Given the description of an element on the screen output the (x, y) to click on. 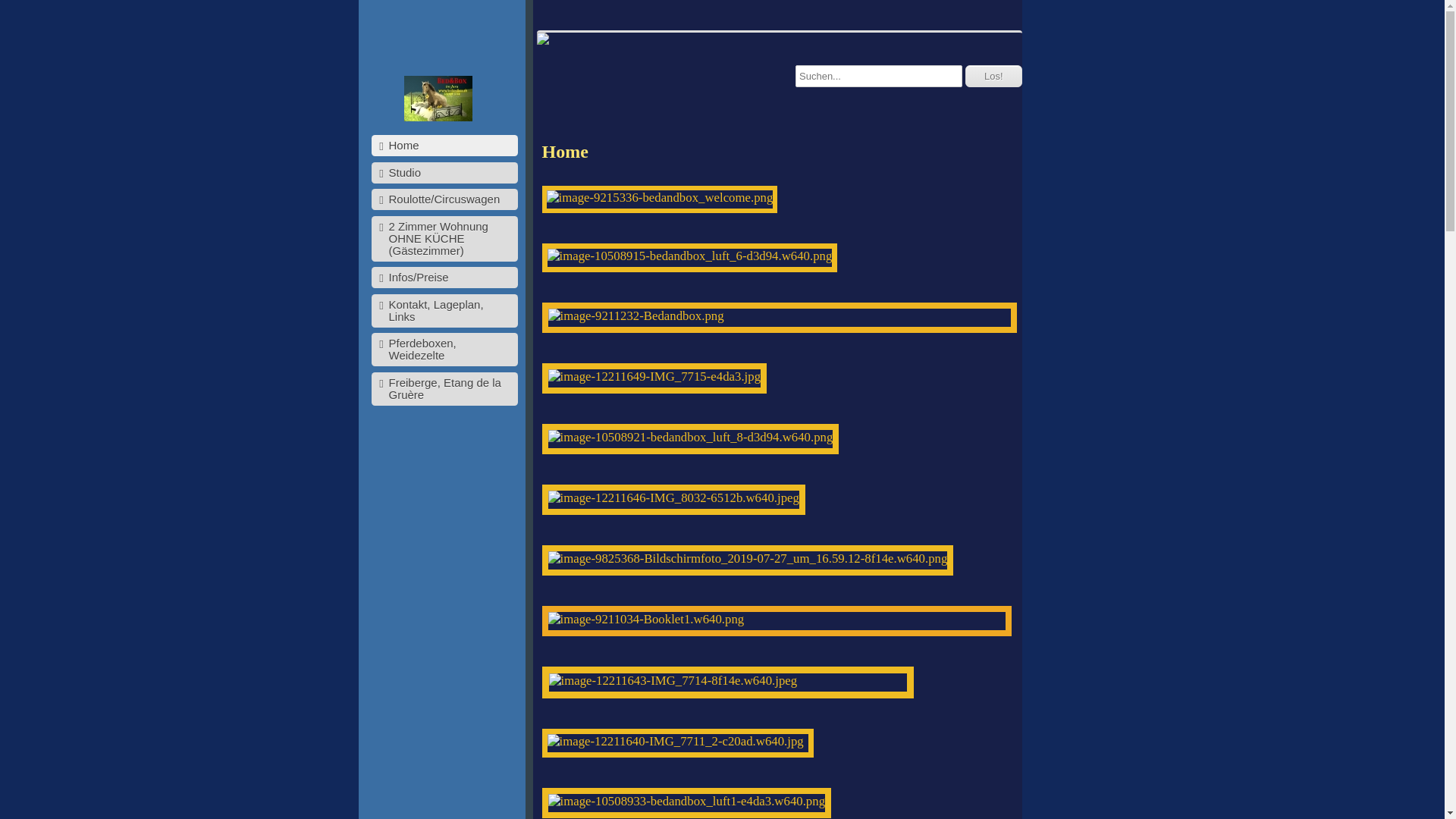
Los! Element type: text (993, 76)
Studio Element type: text (444, 172)
Roulotte/Circuswagen Element type: text (444, 199)
Pferdeboxen, Weidezelte Element type: text (444, 349)
Kontakt, Lageplan, Links Element type: text (444, 310)
Infos/Preise Element type: text (444, 277)
Home Element type: text (444, 145)
